Given the description of an element on the screen output the (x, y) to click on. 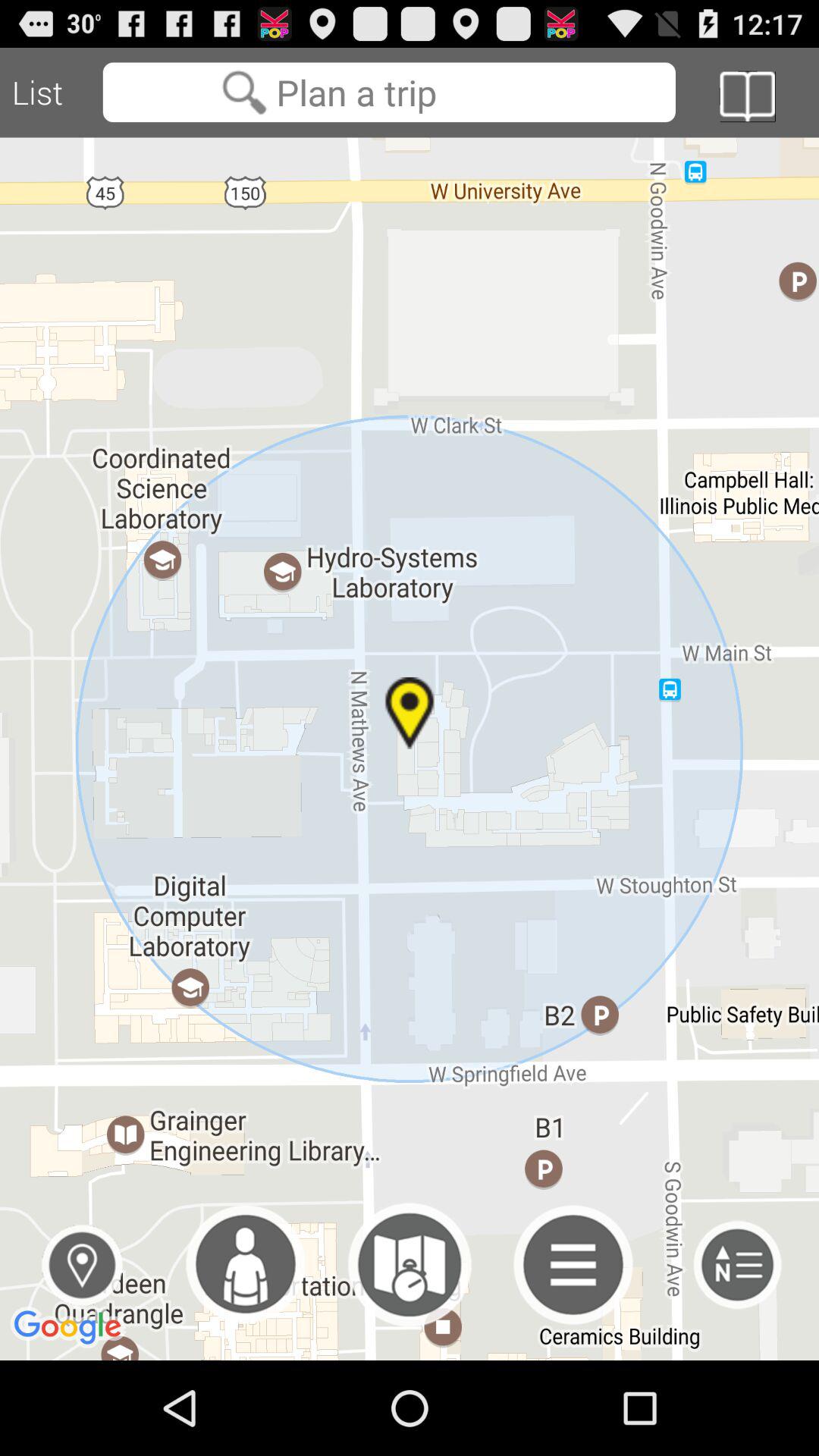
turn off the icon at the center (409, 748)
